Given the description of an element on the screen output the (x, y) to click on. 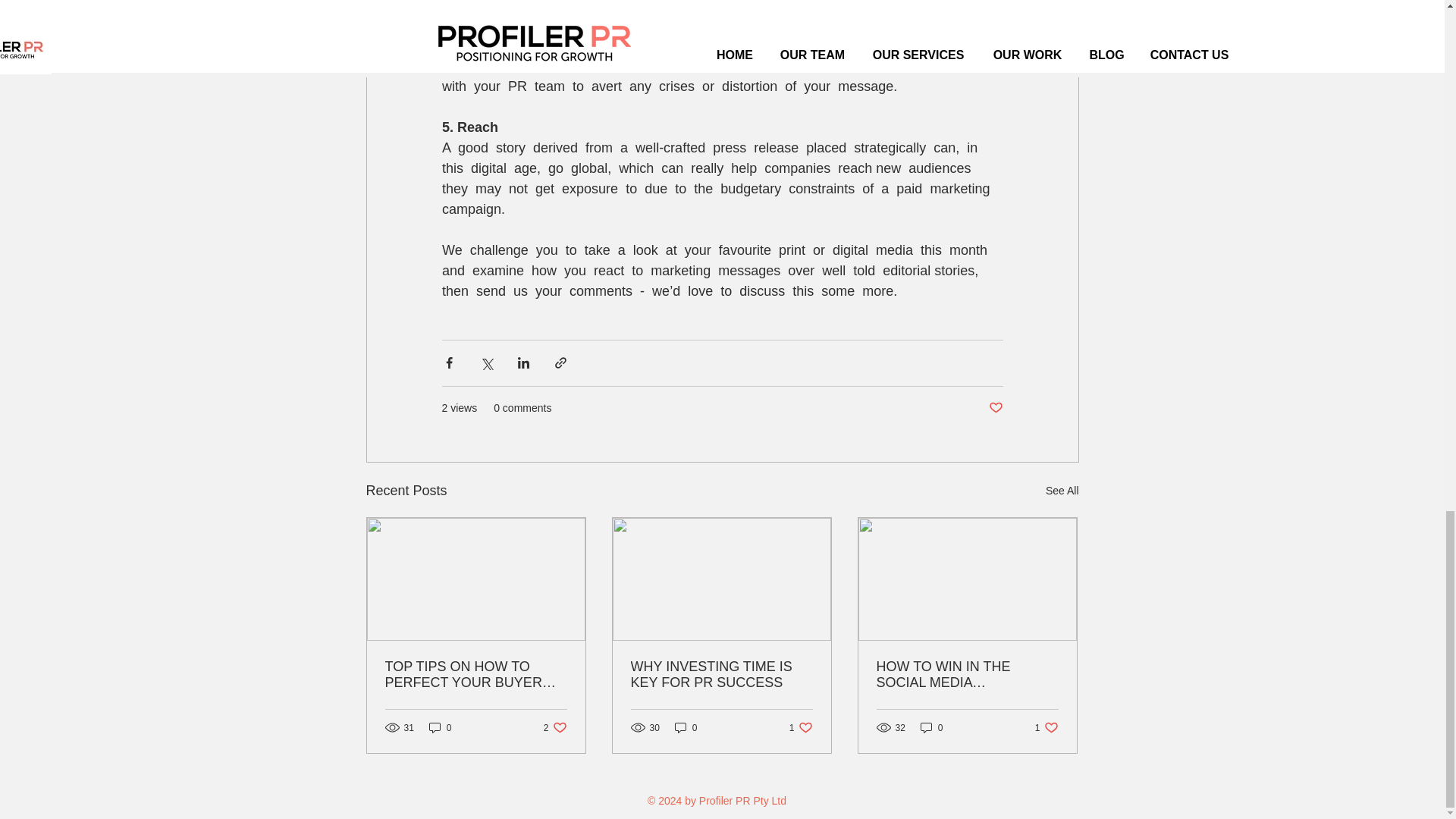
0 (1046, 727)
Post not marked as liked (440, 727)
WHY INVESTING TIME IS KEY FOR PR SUCCESS (995, 407)
0 (721, 675)
TOP TIPS ON HOW TO PERFECT YOUR BUYER PERSONA FOR GROWTH (931, 727)
0 (800, 727)
HOW TO WIN IN THE SOCIAL MEDIA ENGAGEMENT STAKES (476, 675)
